Given the description of an element on the screen output the (x, y) to click on. 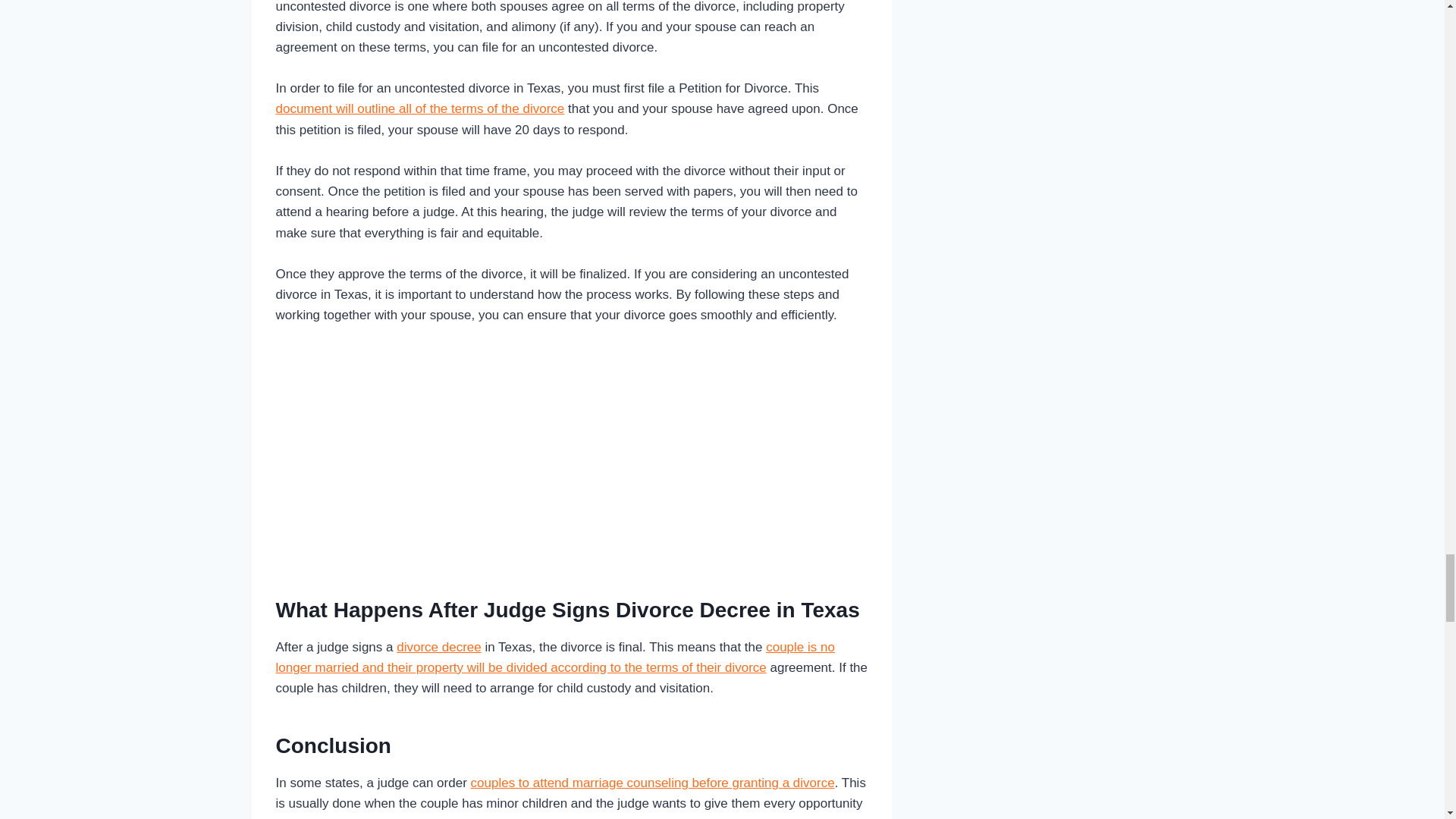
document will outline all of the terms of the divorce (420, 108)
divorce decree (438, 646)
